Given the description of an element on the screen output the (x, y) to click on. 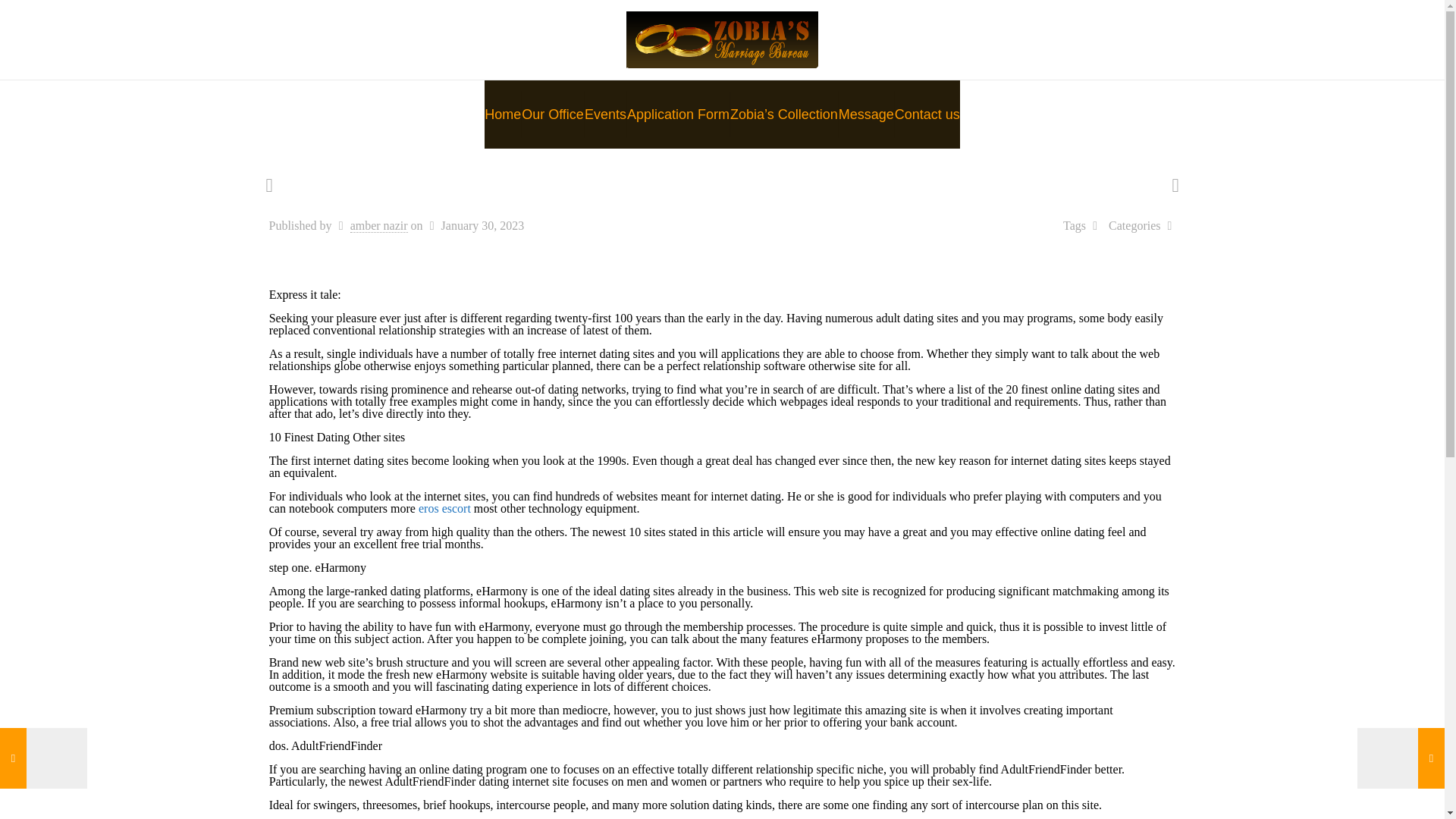
Our Office (553, 114)
Message (866, 114)
Application Form (678, 114)
Contact us (927, 114)
Events (606, 114)
amber nazir (378, 225)
eros escort (444, 508)
Zobia's marriage Bureau (722, 39)
